Given the description of an element on the screen output the (x, y) to click on. 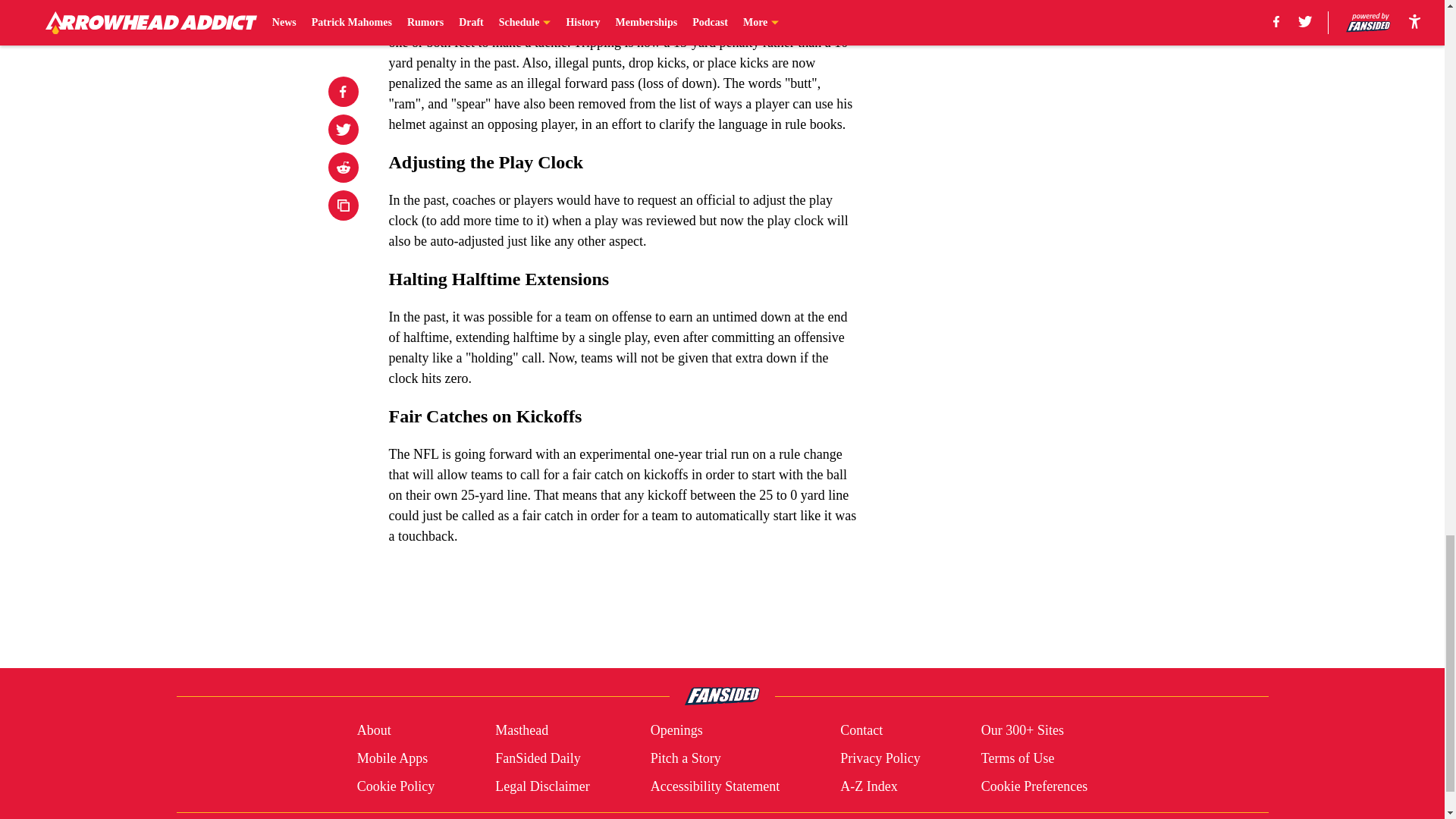
FanSided Daily (537, 758)
Accessibility Statement (714, 786)
Pitch a Story (685, 758)
About (373, 730)
Contact (861, 730)
Mobile Apps (392, 758)
Openings (676, 730)
Legal Disclaimer (542, 786)
Masthead (521, 730)
Privacy Policy (880, 758)
Terms of Use (1017, 758)
Cookie Policy (395, 786)
